Given the description of an element on the screen output the (x, y) to click on. 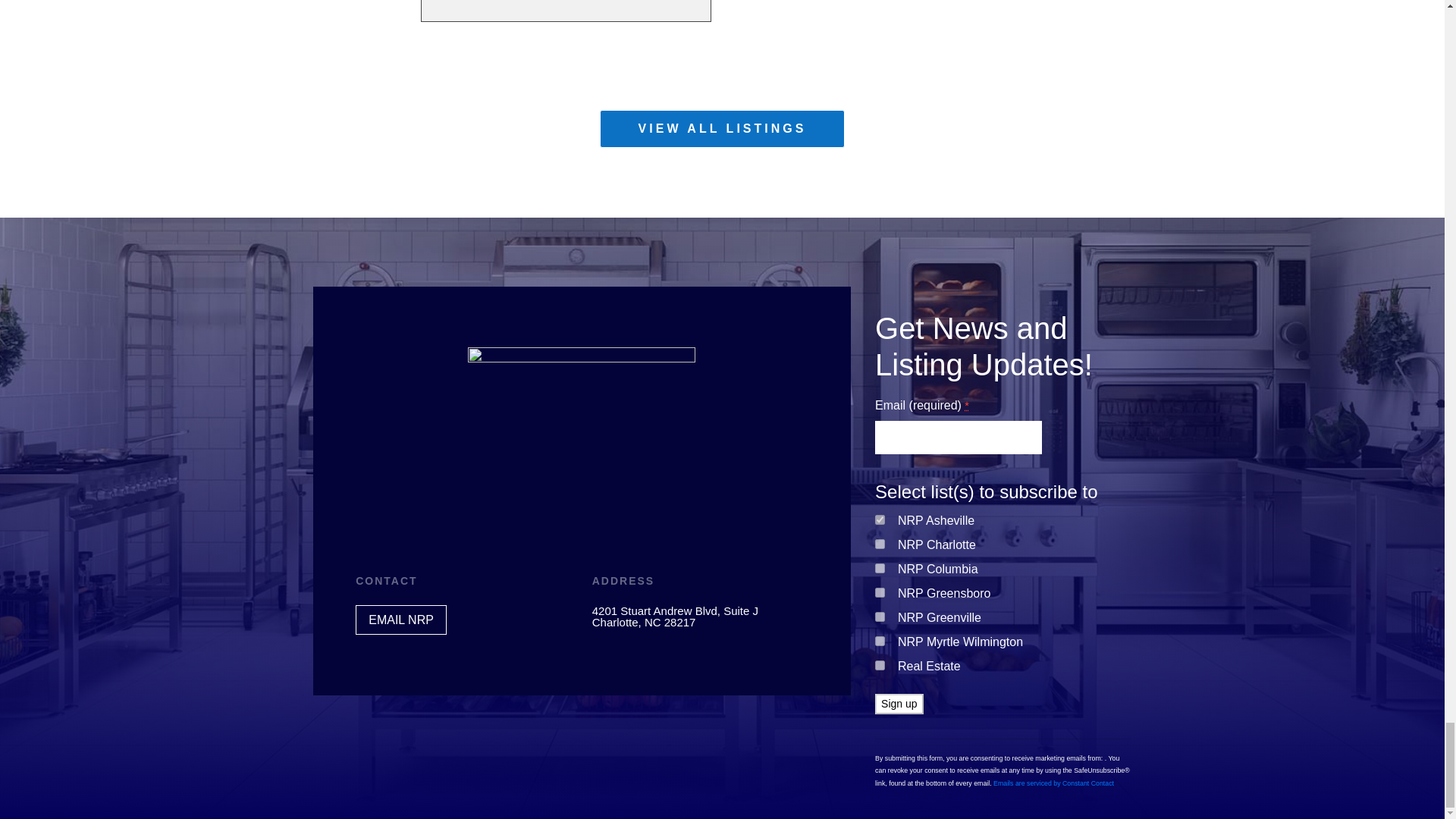
9afa2e24-beab-11ed-82ee-fa163e638ddc (880, 568)
63c203f8-cbf0-11ed-a3d4-fa163eeaf818 (880, 592)
523f4dc4-8339-11e9-9780-d4ae52a4597c (880, 665)
Sign up (899, 703)
b82b1712-99ad-11eb-8f09-fa163e638ddc (880, 543)
3a252d56-54a2-11ed-9422-fa163e638ddc (880, 519)
bf825f20-b56b-11ee-9259-fa163edce0e0 (880, 641)
8f32b380-70fe-11e9-b3af-d4ae528442b5 (880, 616)
